Given the description of an element on the screen output the (x, y) to click on. 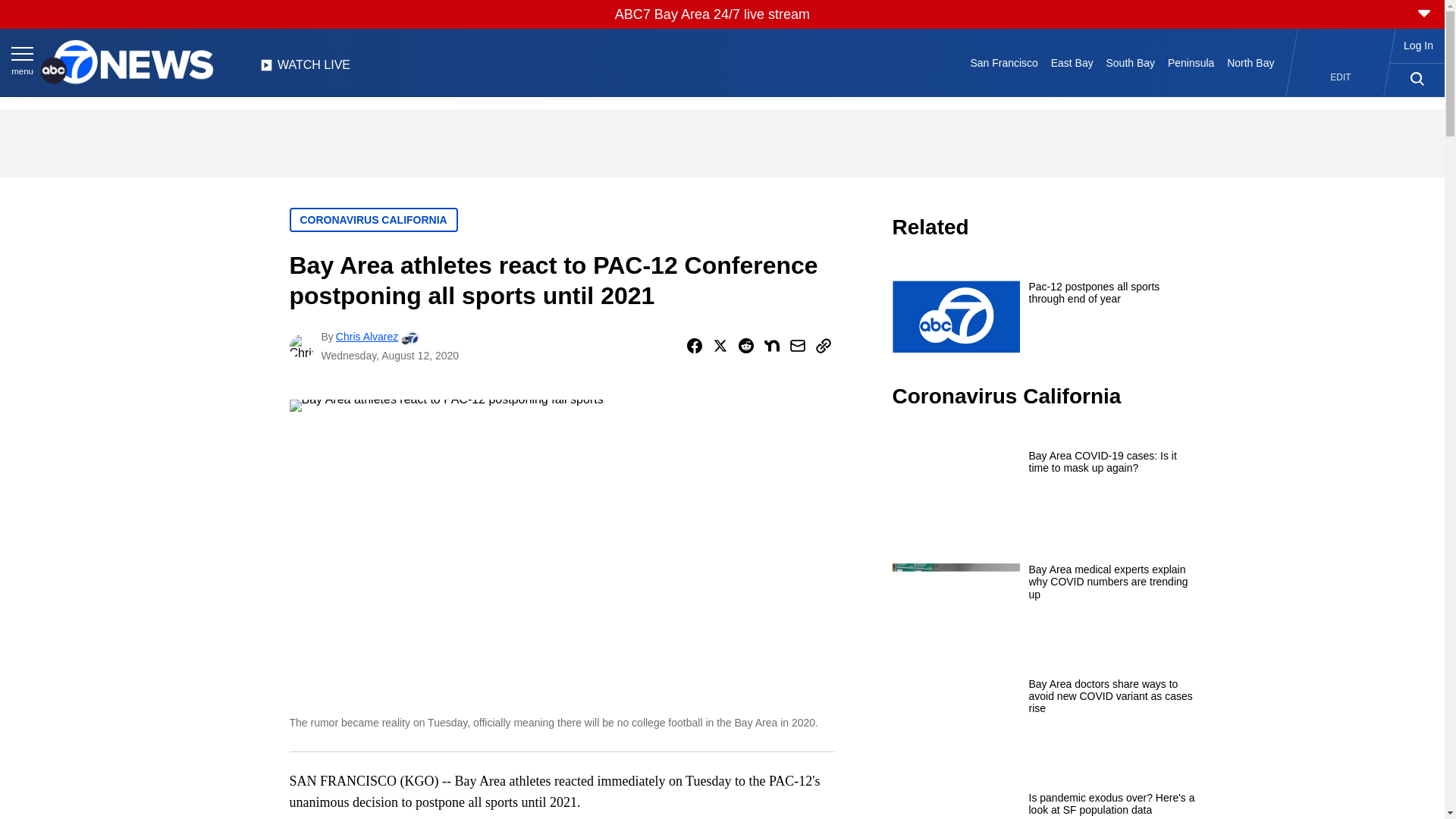
North Bay (1251, 62)
South Bay (1129, 62)
East Bay (1071, 62)
Peninsula (1191, 62)
WATCH LIVE (305, 69)
EDIT (1340, 77)
San Francisco (1003, 62)
